Given the description of an element on the screen output the (x, y) to click on. 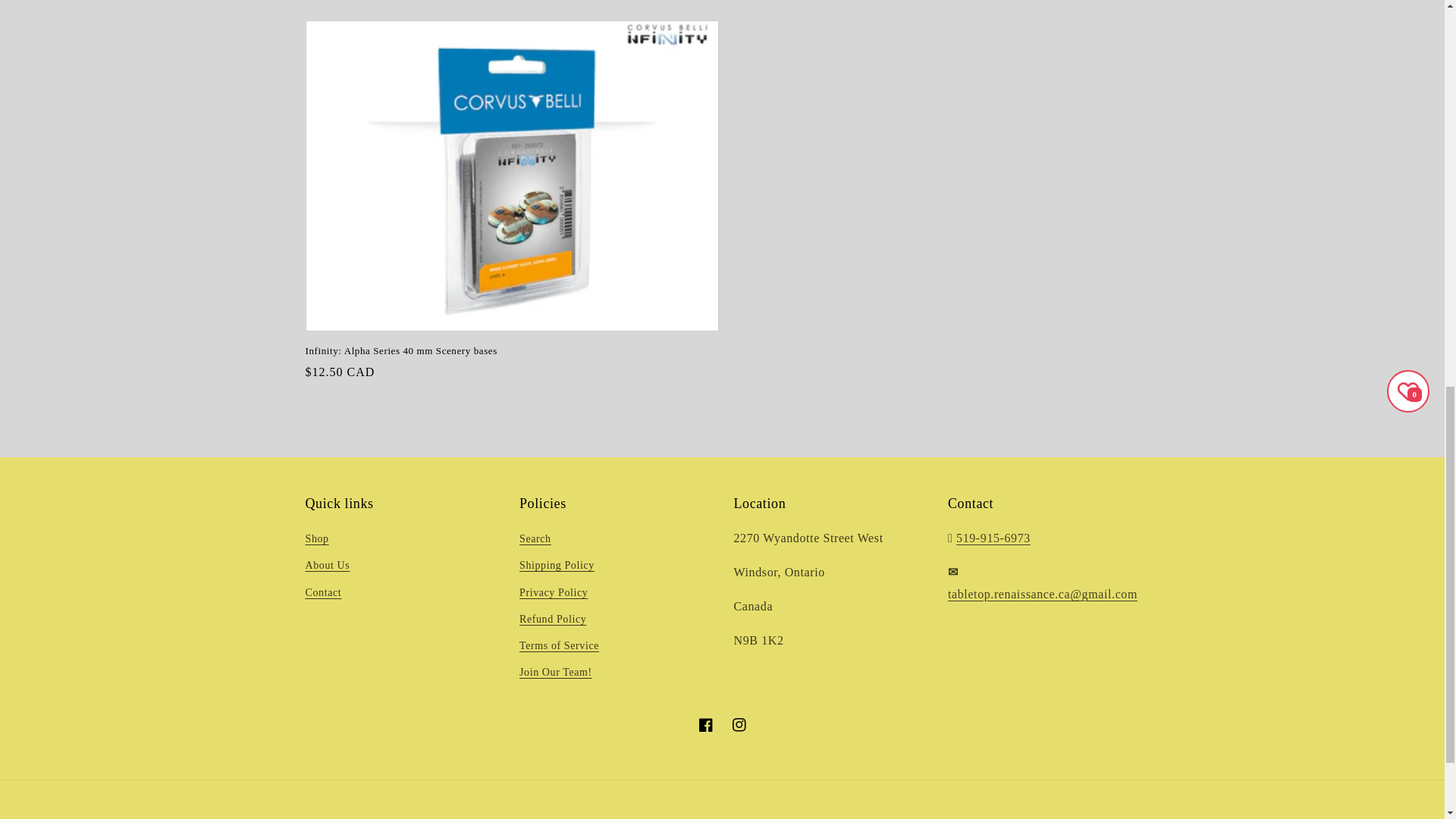
tel:519-915-6973 (993, 537)
